Given the description of an element on the screen output the (x, y) to click on. 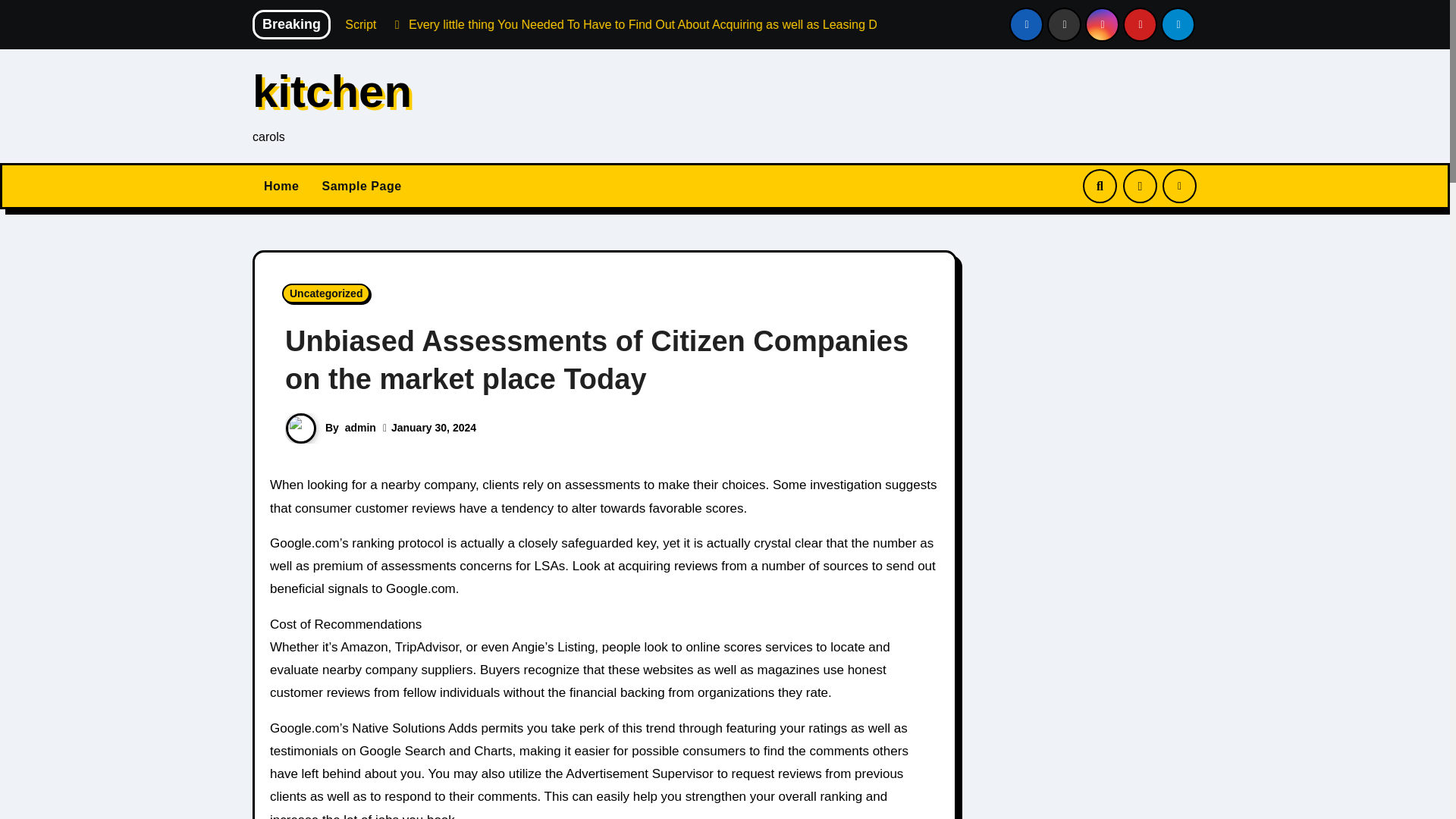
Uncategorized (325, 293)
Sample Page (361, 187)
Home (280, 187)
Home (280, 187)
admin (360, 427)
January 30, 2024 (433, 427)
kitchen (331, 91)
